Given the description of an element on the screen output the (x, y) to click on. 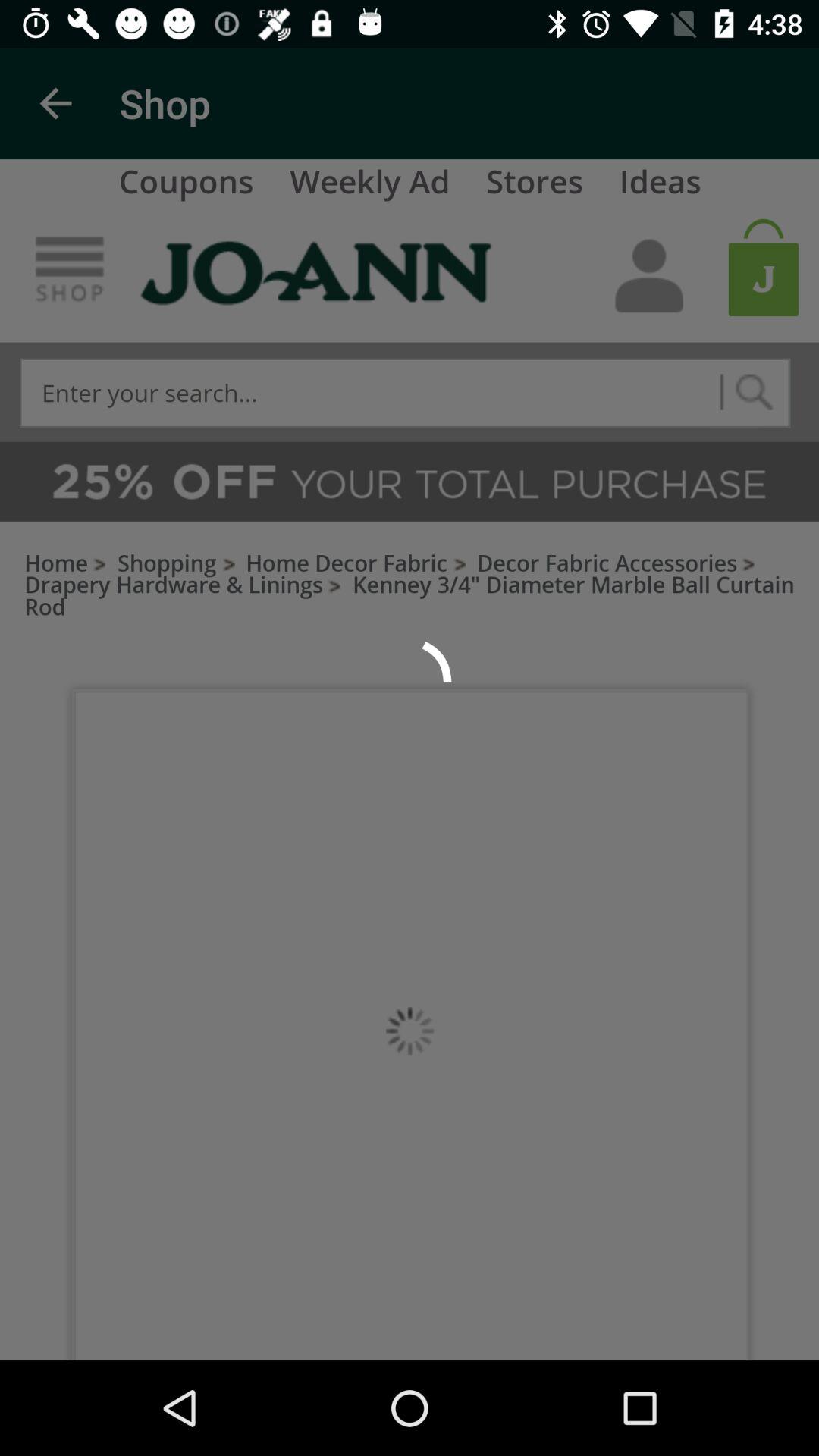
launch app next to shop icon (55, 103)
